Given the description of an element on the screen output the (x, y) to click on. 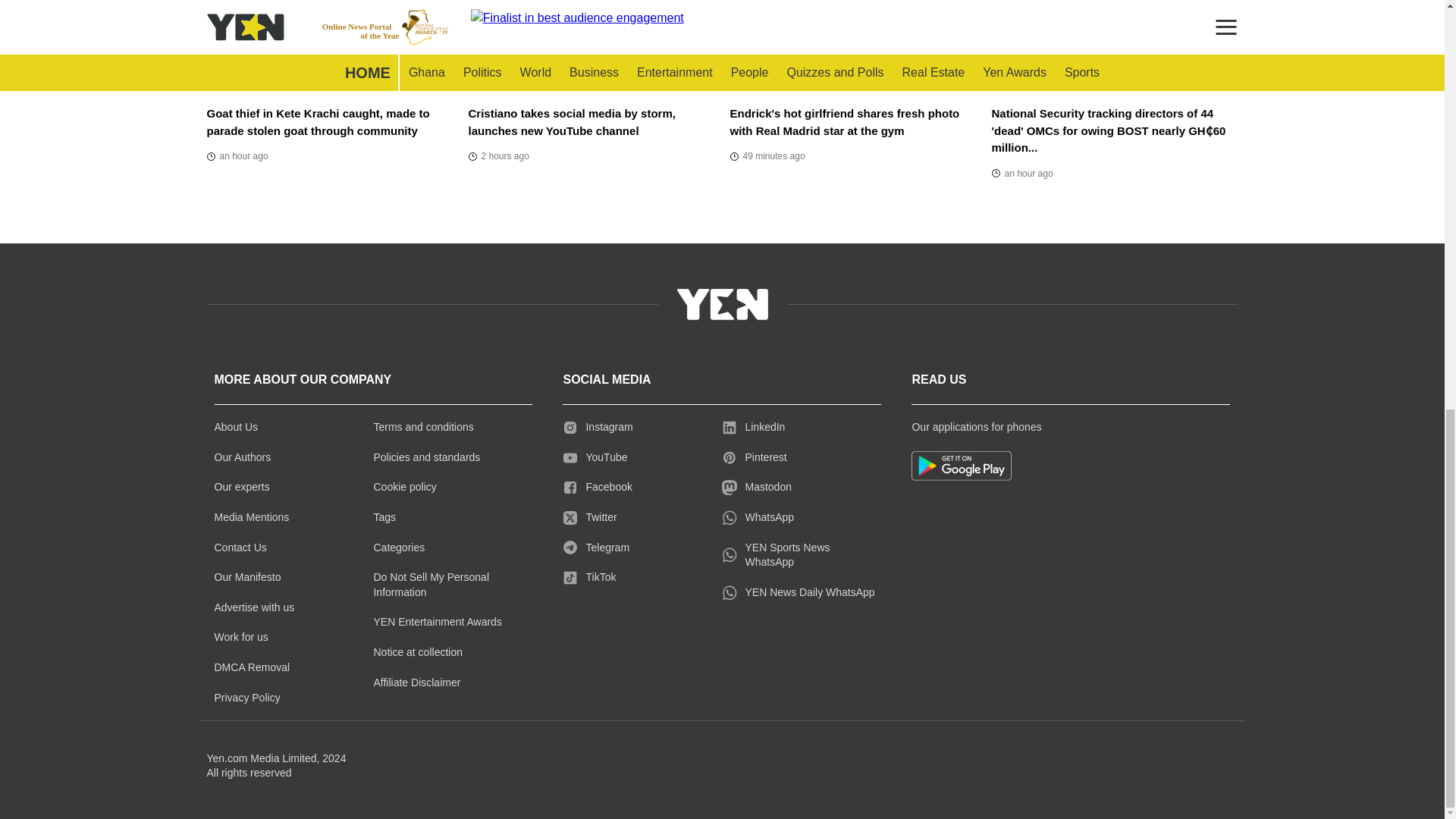
2024-08-21T14:42:02Z (498, 156)
2024-08-21T16:01:06Z (767, 156)
2024-08-21T15:45:26Z (1021, 173)
2024-08-21T14:52:48Z (236, 156)
